Given the description of an element on the screen output the (x, y) to click on. 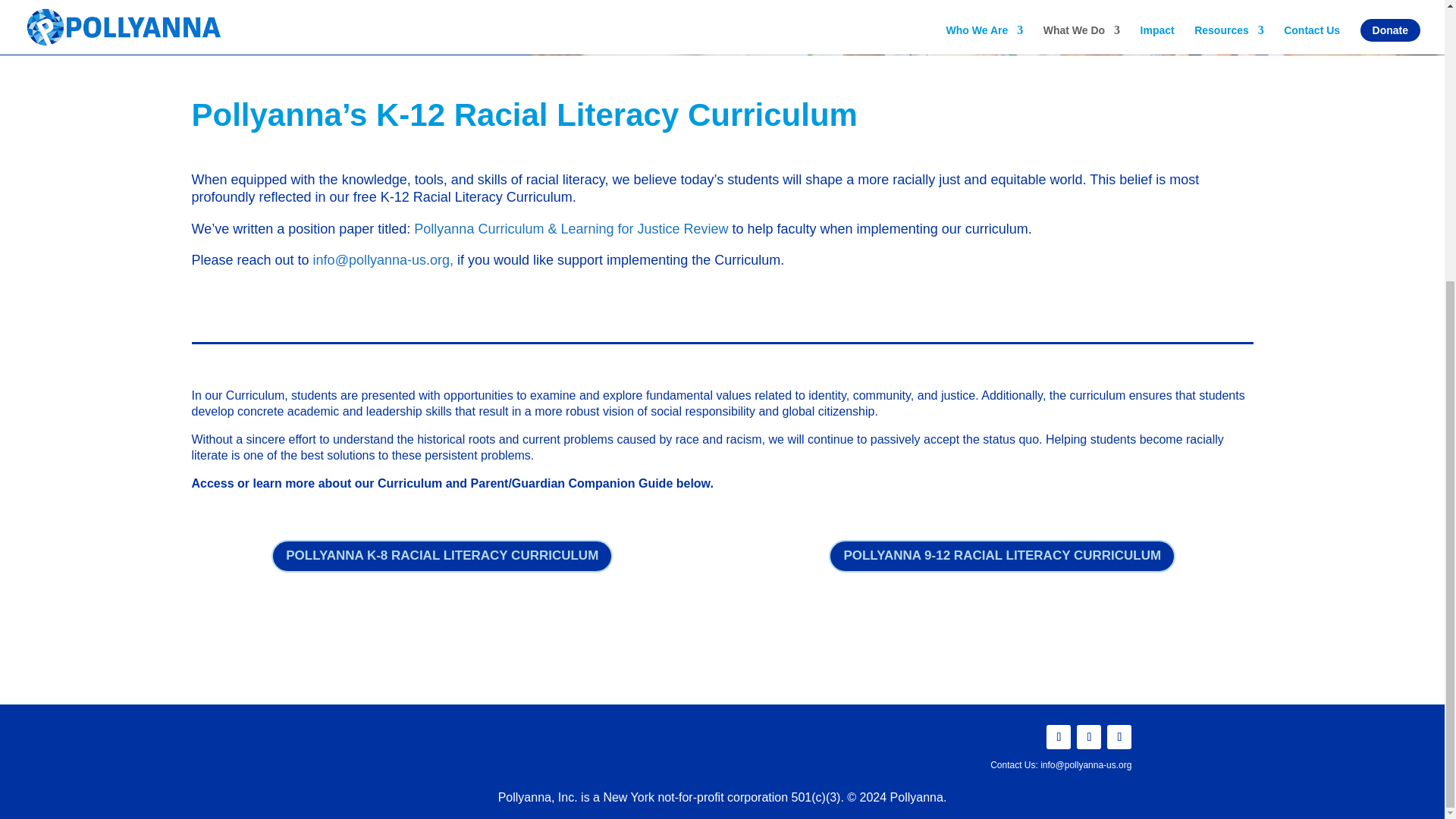
Follow on LinkedIn (1118, 736)
Follow on Facebook (1058, 736)
Follow on Instagram (1088, 736)
